Given the description of an element on the screen output the (x, y) to click on. 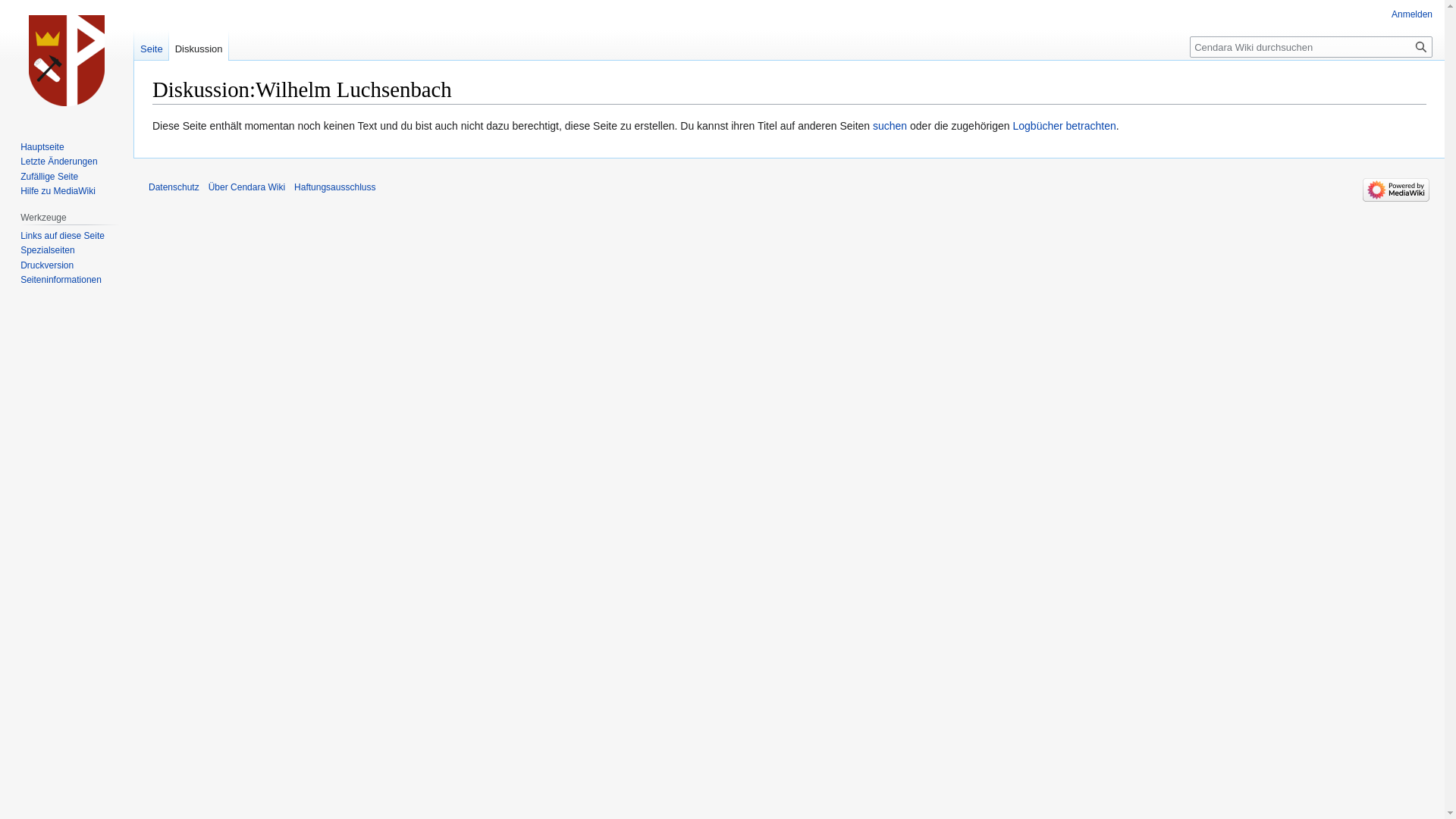
Seite Element type: text (151, 45)
Druckversion Element type: text (46, 265)
Cendara Wiki durchsuchen [alt-shift-f] Element type: hover (1310, 46)
Anmelden Element type: text (1411, 14)
Links auf diese Seite Element type: text (62, 235)
Hauptseite Element type: hover (66, 60)
Datenschutz Element type: text (173, 187)
Spezialseiten Element type: text (47, 249)
Hilfe zu MediaWiki Element type: text (57, 190)
Diskussion Element type: text (199, 45)
Suche nach Seiten, die diesen Text enthalten Element type: hover (1420, 46)
Suchen Element type: text (1420, 46)
Haftungsausschluss Element type: text (334, 187)
Zur Navigation springen Element type: text (151, 116)
suchen Element type: text (889, 125)
Hauptseite Element type: text (41, 146)
